Given the description of an element on the screen output the (x, y) to click on. 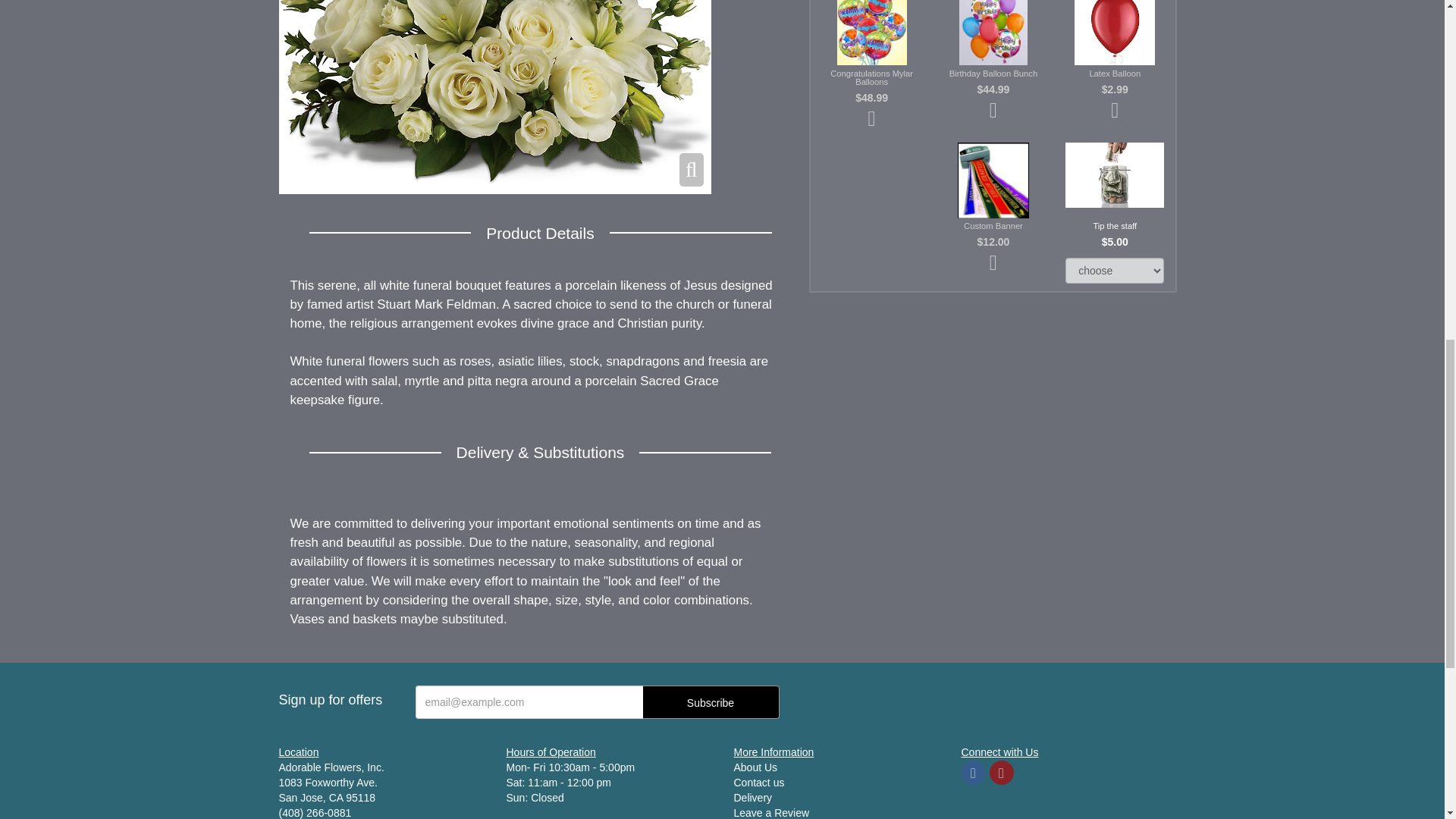
Subscribe (710, 702)
